Given the description of an element on the screen output the (x, y) to click on. 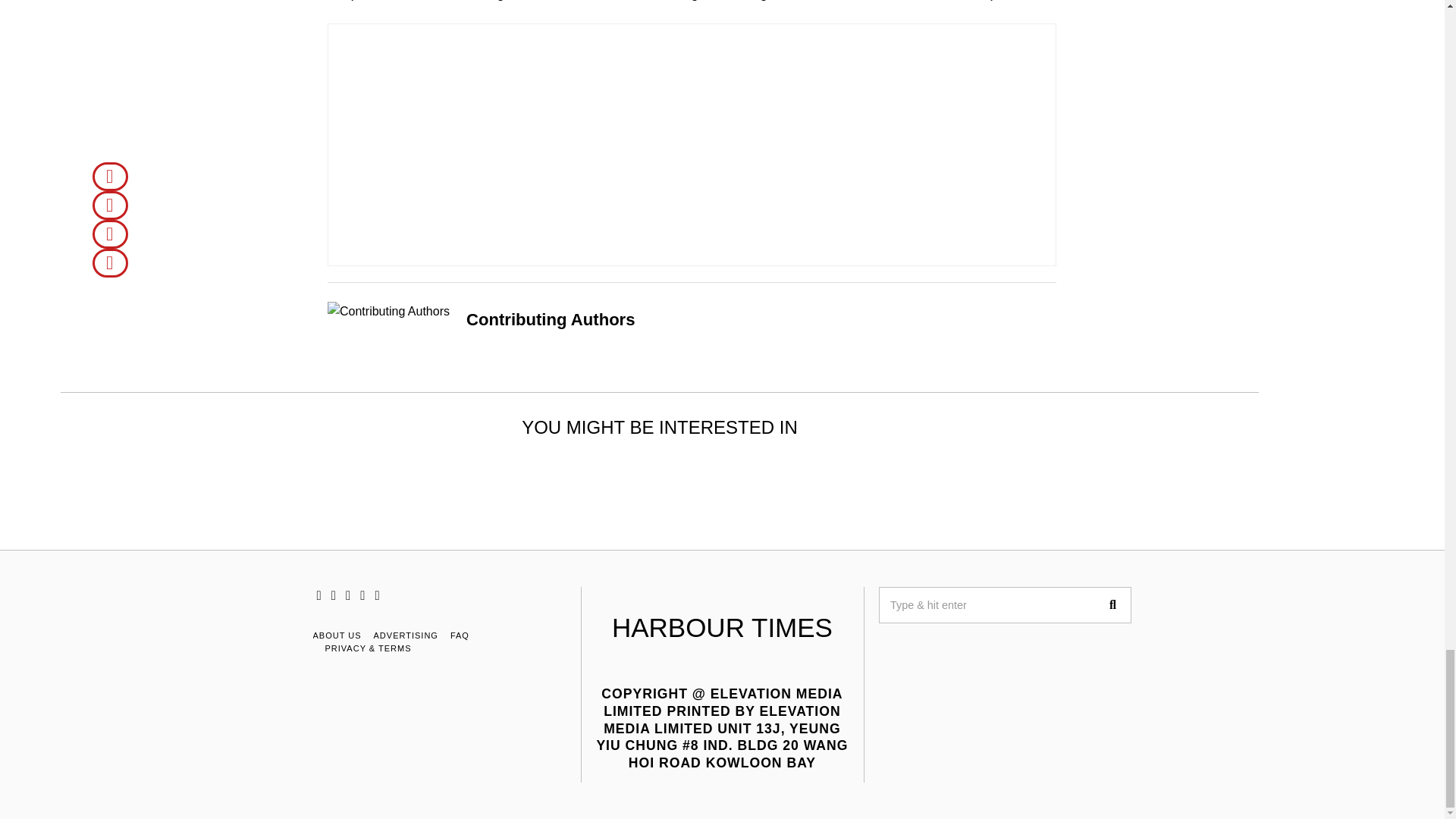
FAQ (458, 635)
Go (1112, 605)
ABOUT US (337, 635)
ADVERTISING (406, 635)
